Given the description of an element on the screen output the (x, y) to click on. 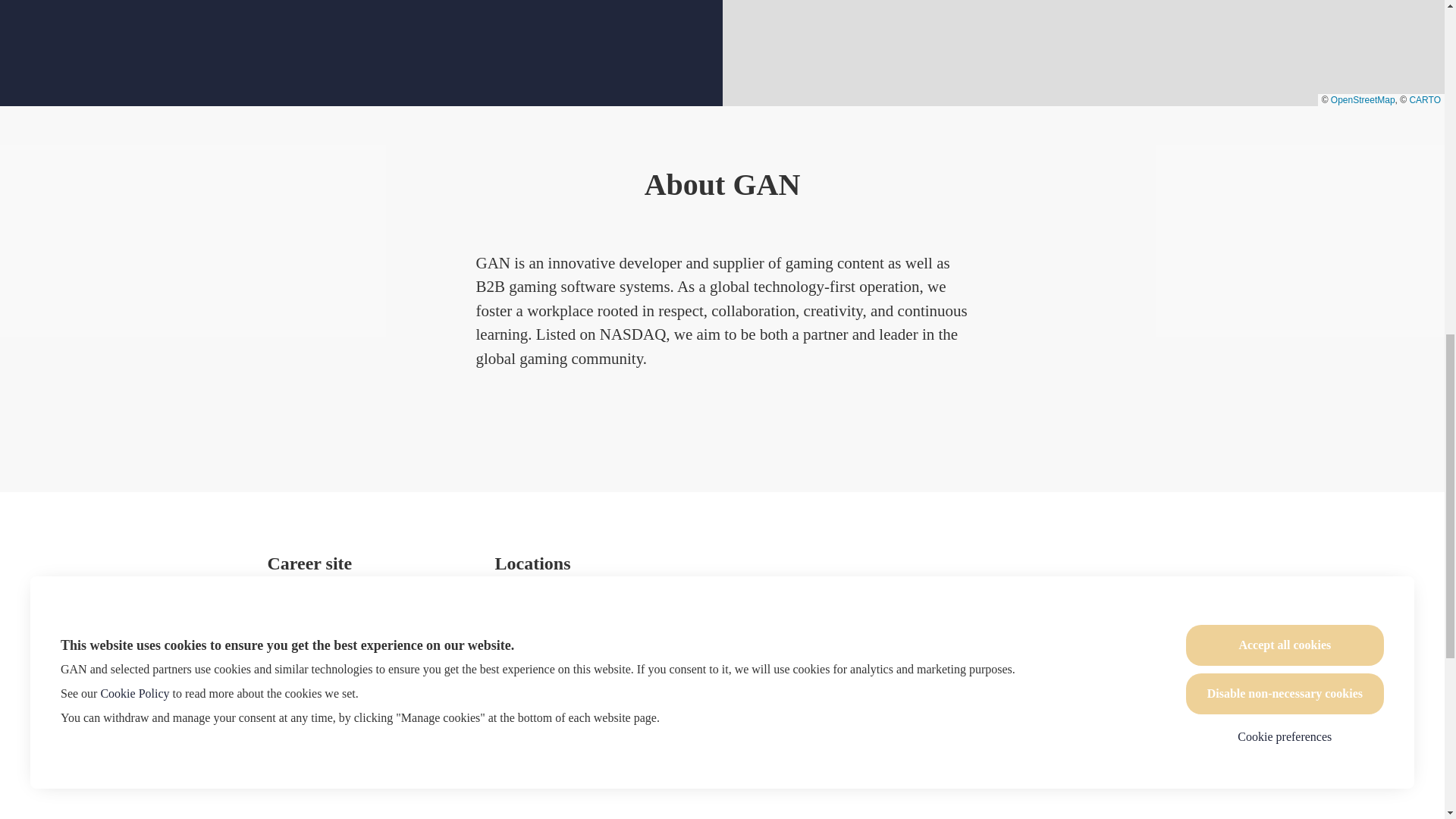
Sofia, Bulgaria (535, 594)
CARTO (1425, 100)
facebook (1115, 671)
Manage cookies (310, 673)
Tel Aviv, Israel (535, 645)
Jobs (278, 619)
London, UK (529, 619)
Locations (293, 594)
OpenStreetMap (1362, 100)
Irvine, CA, US (535, 670)
